Given the description of an element on the screen output the (x, y) to click on. 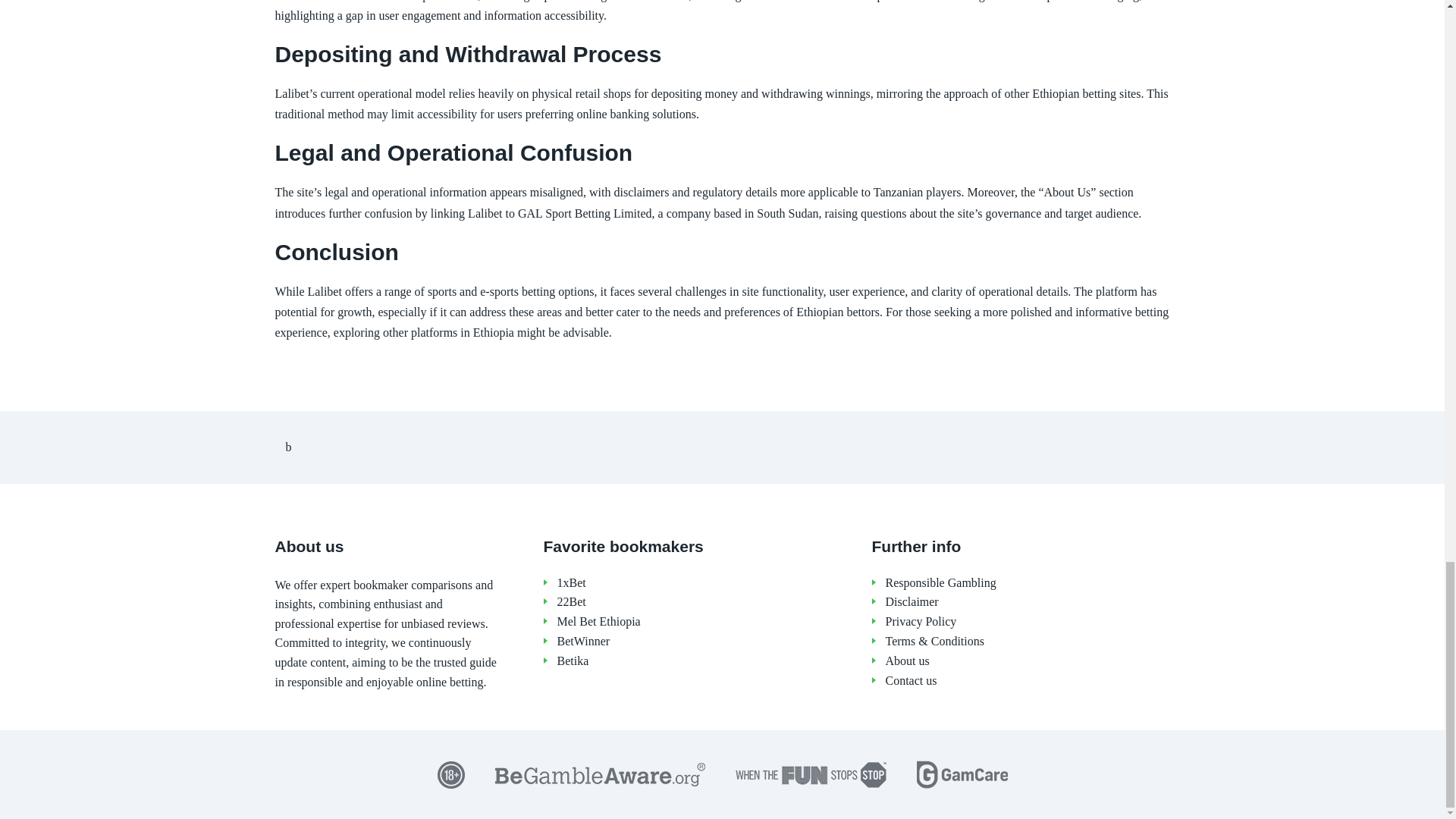
BetWinner (698, 641)
Disclaimer (1027, 602)
Responsible Gambling (1027, 583)
Betika (698, 661)
1xBet (698, 583)
Mel Bet Ethiopia (698, 621)
Privacy Policy (1027, 621)
22Bet (698, 602)
